Given the description of an element on the screen output the (x, y) to click on. 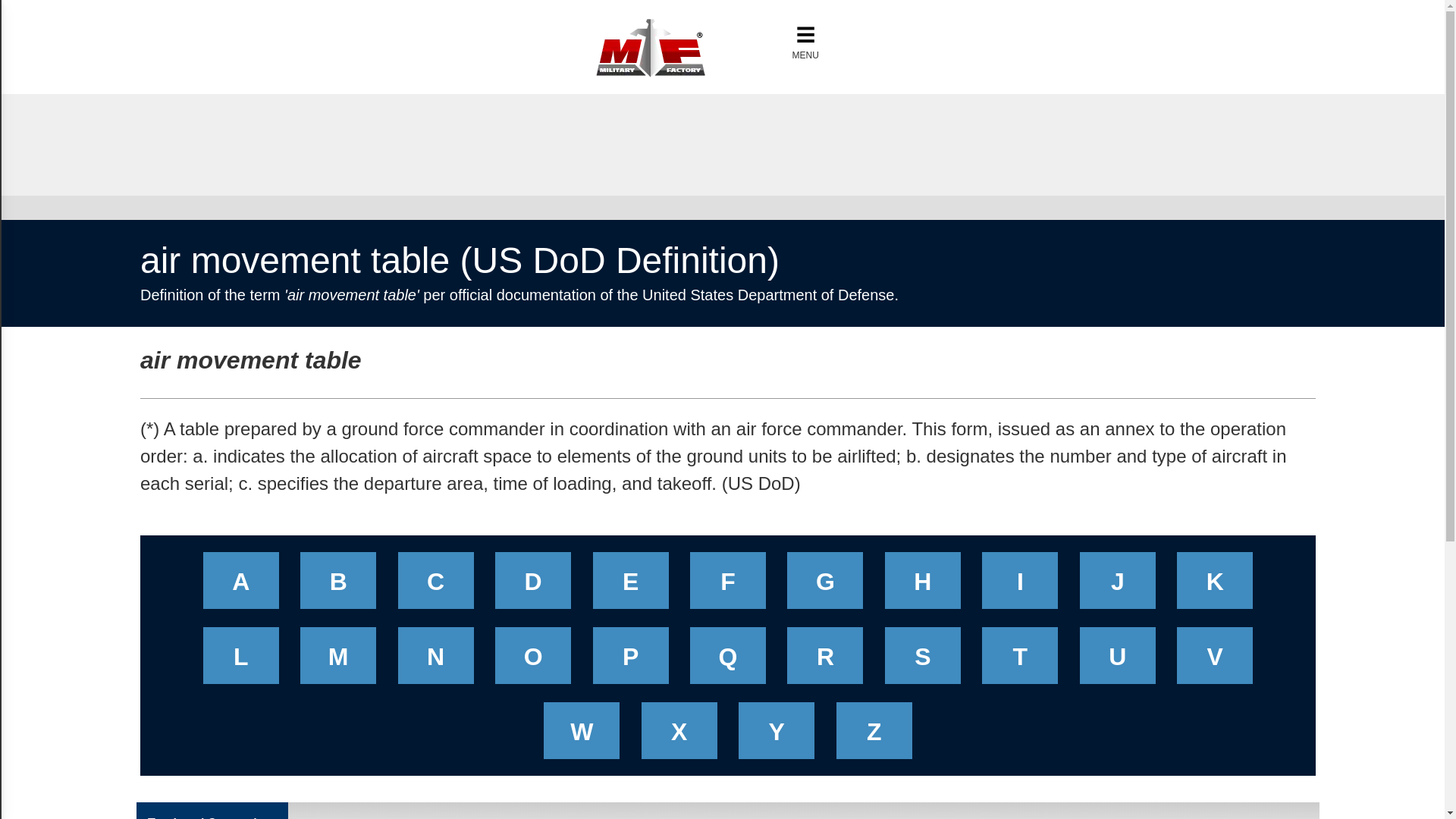
P (630, 660)
N (435, 660)
M (338, 660)
G (824, 585)
D (532, 585)
B (338, 585)
S (922, 660)
L (240, 660)
A (240, 585)
F (727, 585)
